Given the description of an element on the screen output the (x, y) to click on. 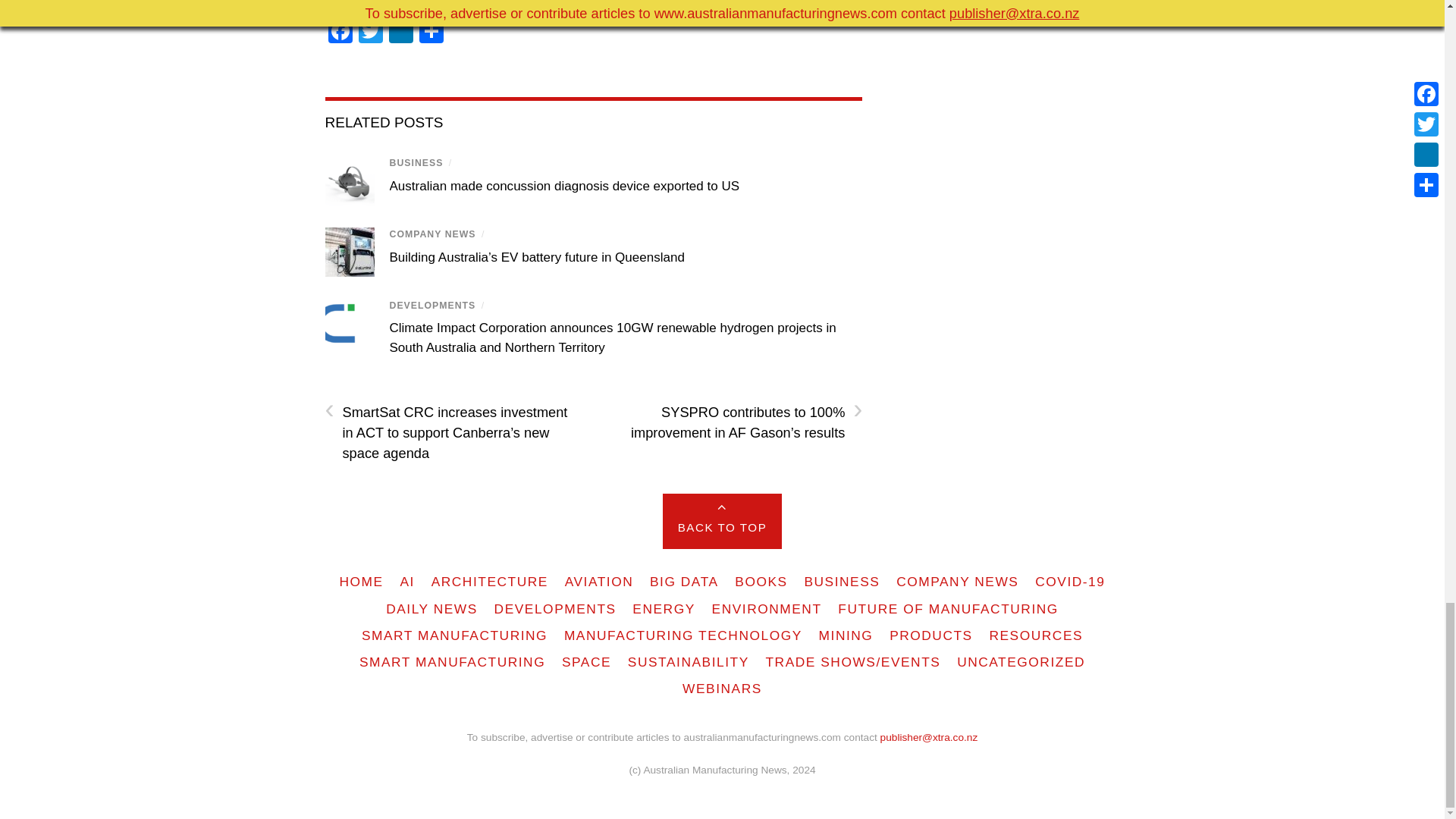
Headsafe Nurocheck unit AUS MN (349, 180)
Facebook (339, 32)
Building Australia's AUS MN (349, 251)
Australian made concussion diagnosis device exported to US (564, 186)
Twitter (370, 32)
LinkedIn (399, 32)
